Given the description of an element on the screen output the (x, y) to click on. 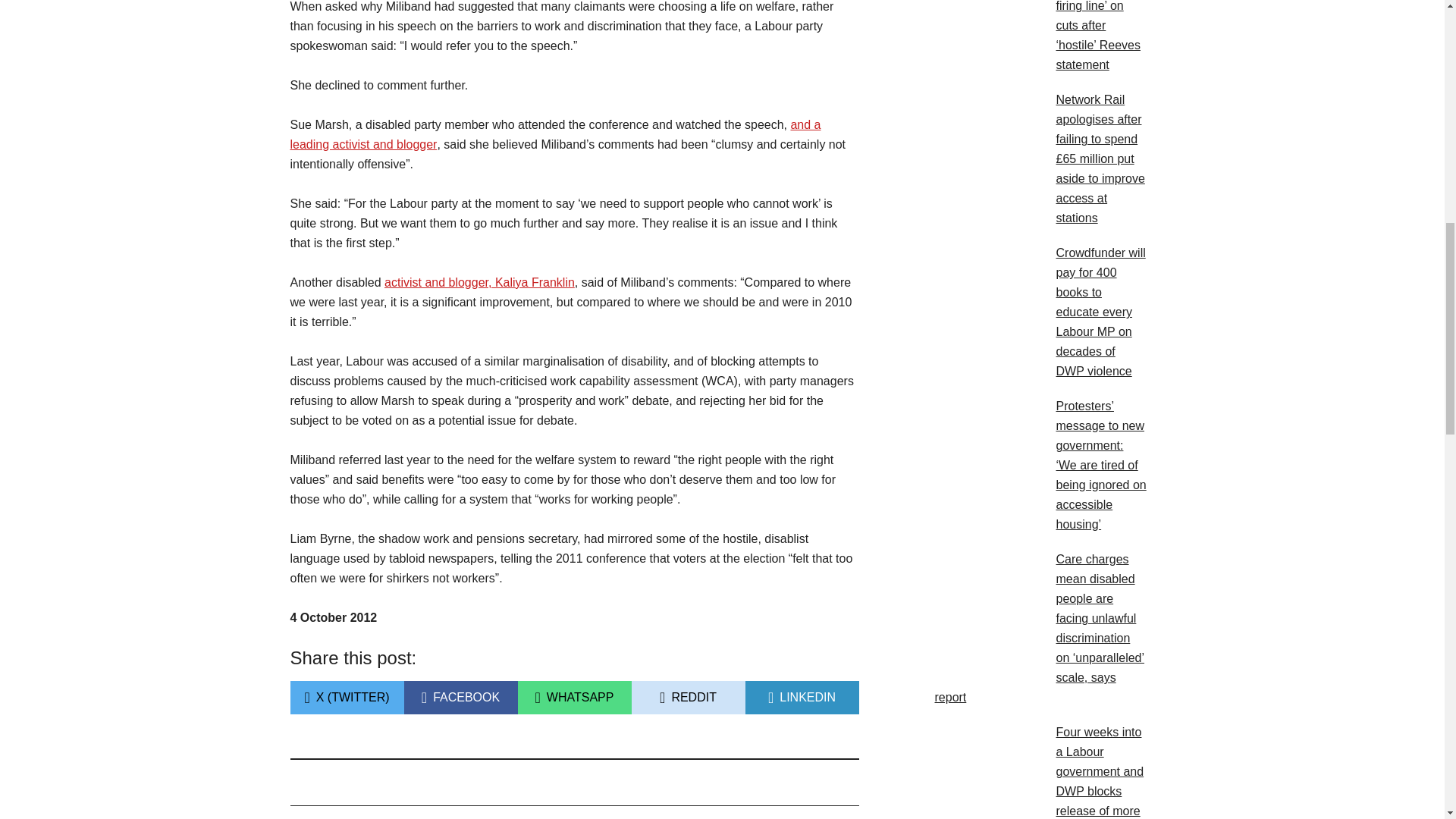
activist and blogger, Kaliya Franklin (479, 282)
and a leading activist and blogger (555, 133)
